Given the description of an element on the screen output the (x, y) to click on. 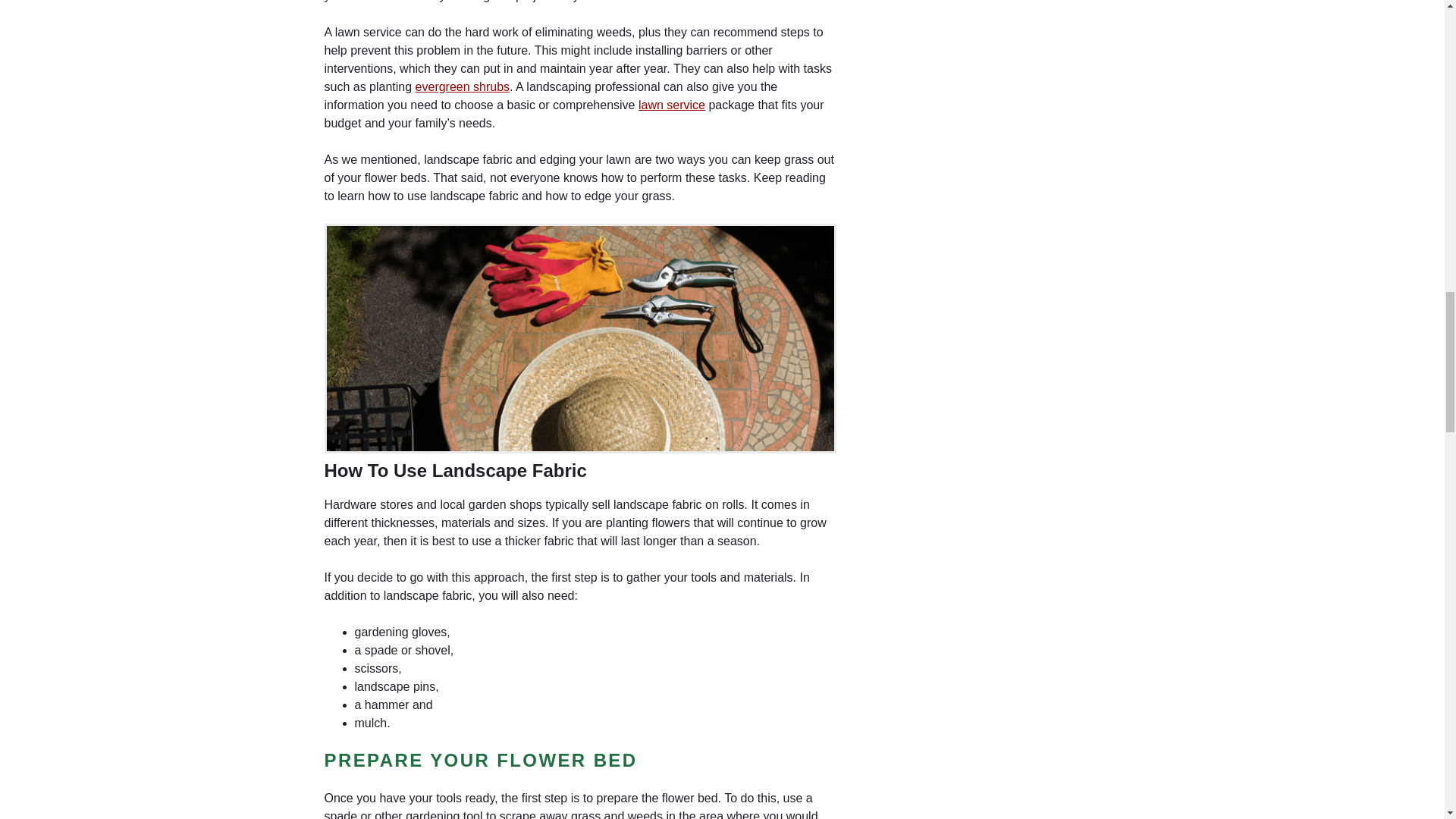
evergreen shrubs (462, 86)
lawn service (671, 104)
